Given the description of an element on the screen output the (x, y) to click on. 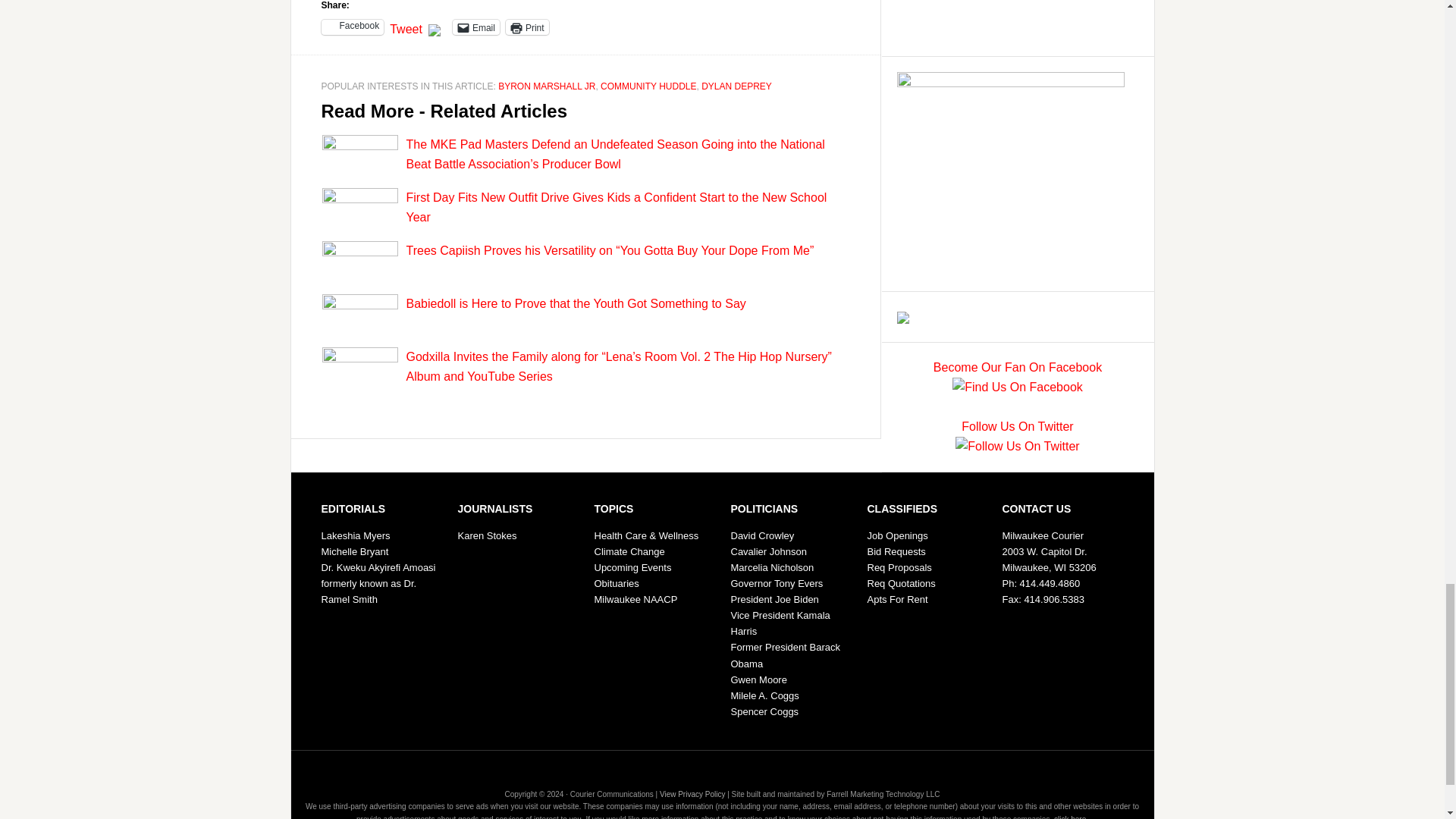
Click to print (526, 27)
Click to email a link to a friend (475, 27)
Print (526, 27)
COMMUNITY HUDDLE (647, 86)
DYLAN DEPREY (736, 86)
Click to share on Facebook (352, 27)
Email (475, 27)
Tweet (406, 26)
